Given the description of an element on the screen output the (x, y) to click on. 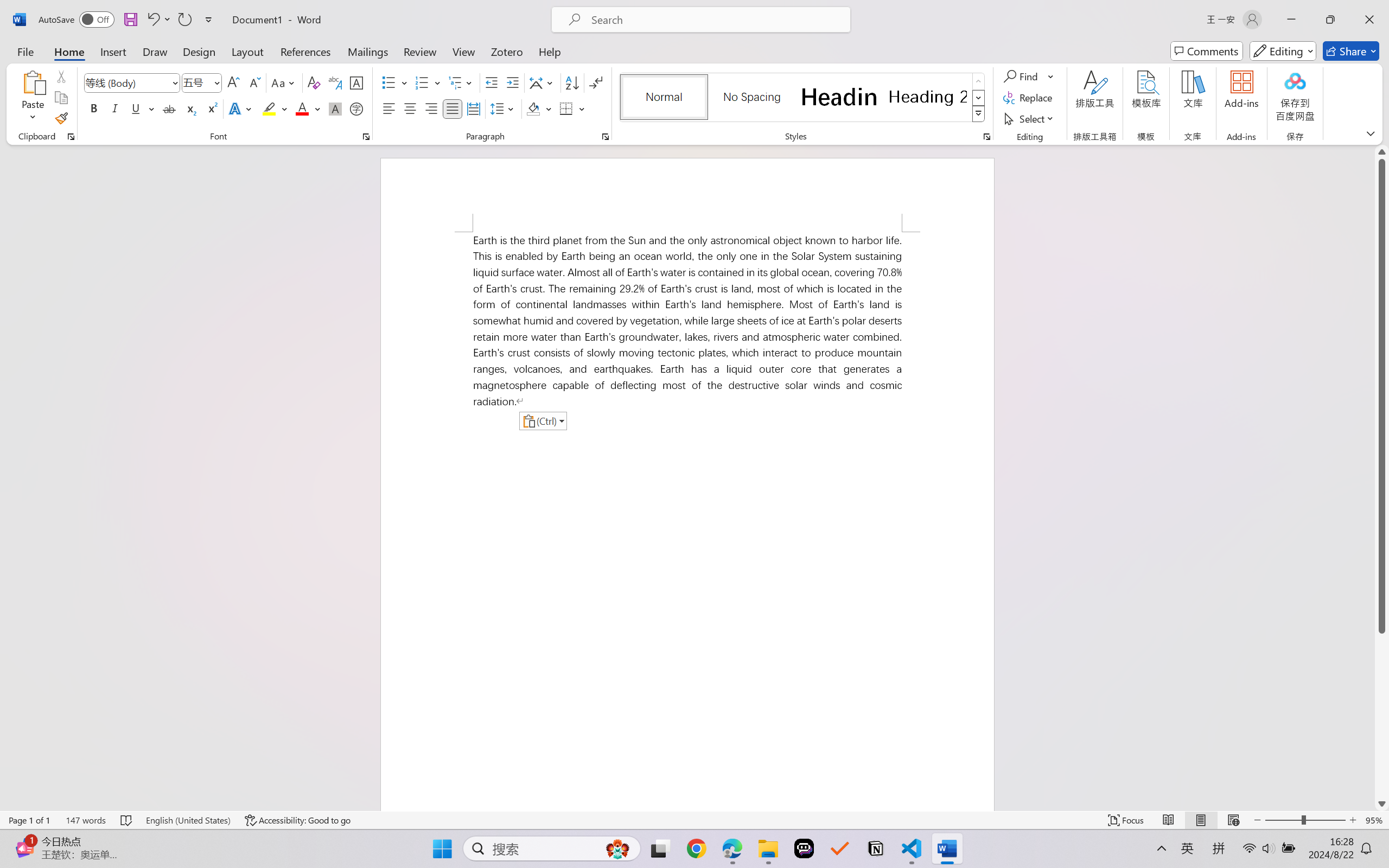
Paragraph... (605, 136)
Font Color Red (302, 108)
Change Case (284, 82)
Styles... (986, 136)
Font... (365, 136)
Class: NetUIScrollBar (1382, 477)
Select (1030, 118)
Center (409, 108)
Line down (1382, 803)
Decrease Indent (491, 82)
